Given the description of an element on the screen output the (x, y) to click on. 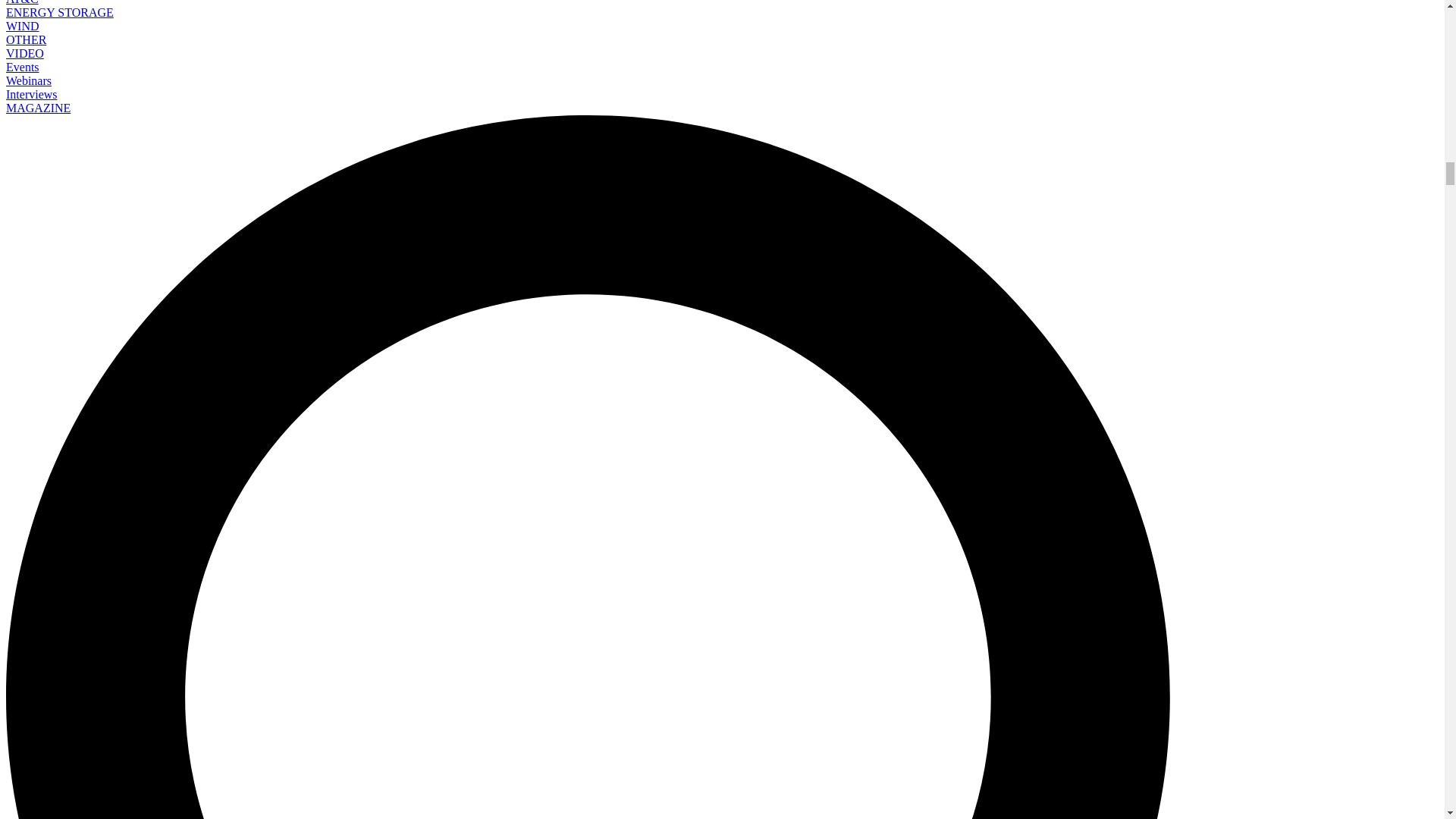
VIDEO (24, 52)
Events (22, 66)
OTHER (25, 39)
Interviews (31, 93)
WIND (22, 25)
Webinars (27, 80)
ENERGY STORAGE (59, 11)
